Given the description of an element on the screen output the (x, y) to click on. 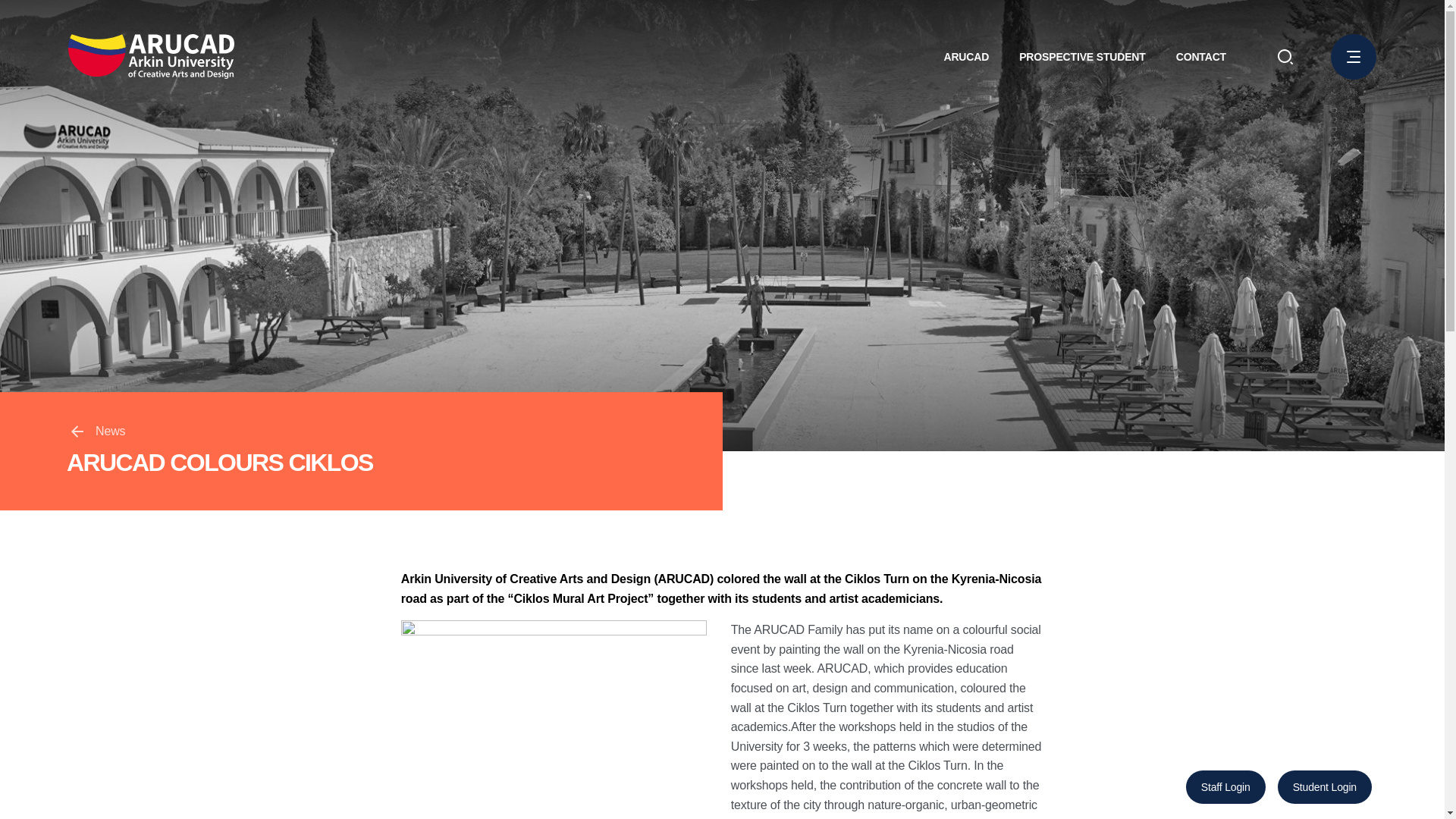
PROSPECTIVE STUDENT (1082, 55)
CONTACT (1200, 55)
News (96, 431)
ARUCAD (965, 55)
